Given the description of an element on the screen output the (x, y) to click on. 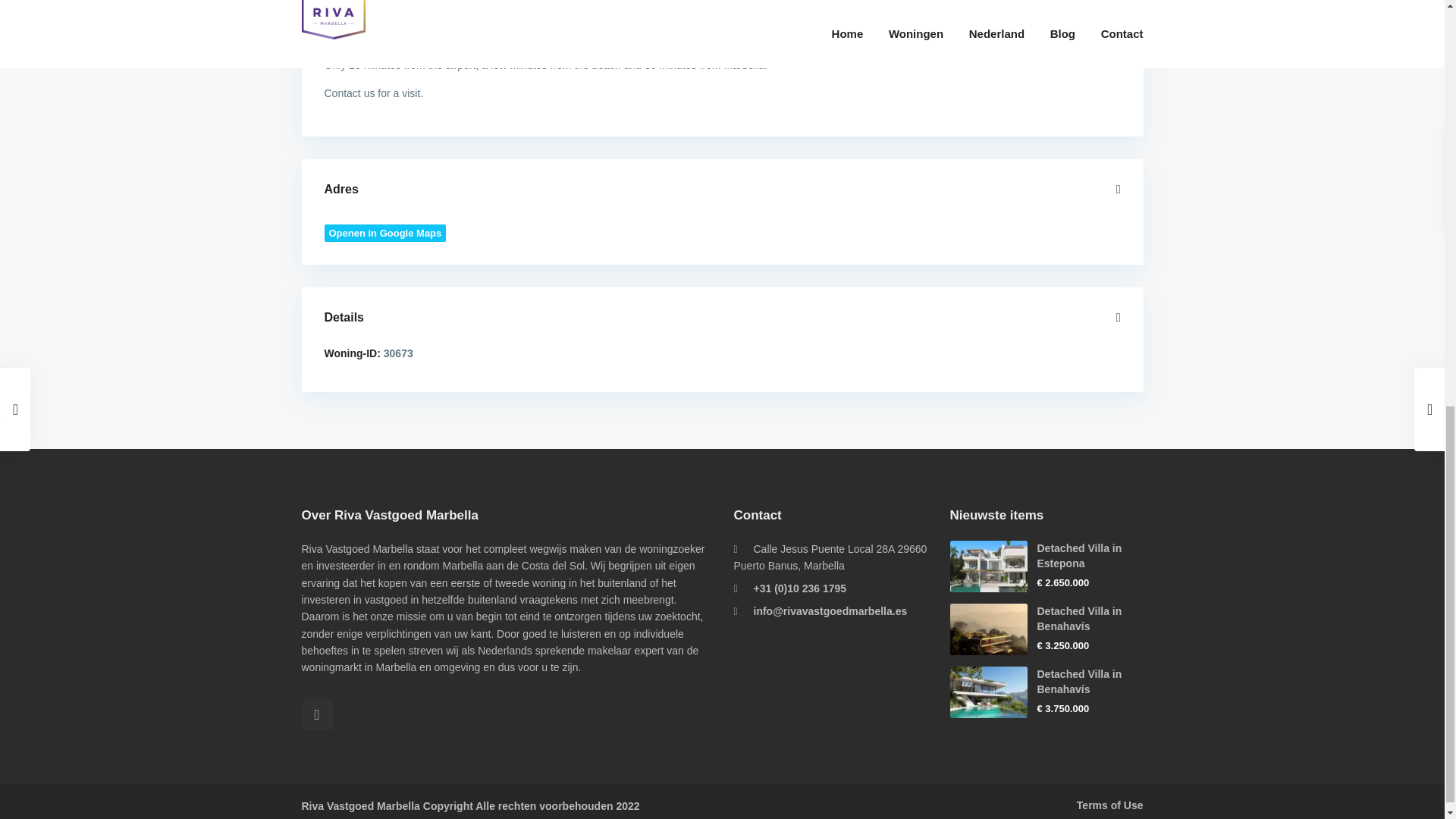
Detached Villa in Estepona (1079, 555)
Openen in Google Maps (385, 232)
Adres (722, 189)
Details (722, 317)
Terms of Use (1109, 805)
